Given the description of an element on the screen output the (x, y) to click on. 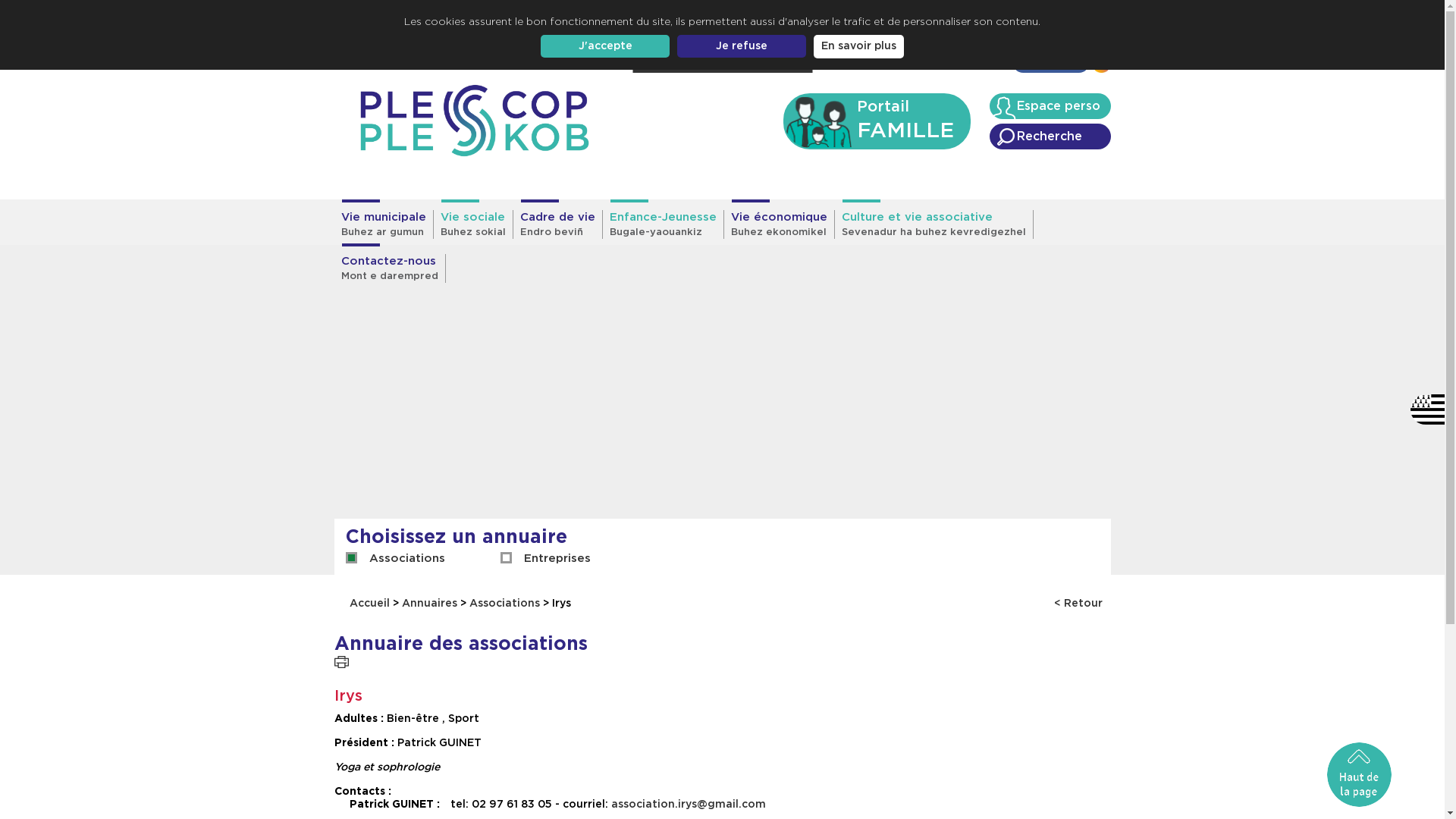
Annuaires Element type: text (429, 603)
association.irys@gmail.com Element type: text (688, 804)
Associations Element type: text (504, 603)
Culture et vie associative
Sevenadur ha buhez kevredigezhel Element type: text (933, 224)
Espace perso Element type: text (1049, 106)
Entreprises Element type: text (557, 558)
Contactez-nous
Mont e darempred Element type: text (389, 268)
< Retour Element type: text (1078, 603)
Accueil Element type: text (867, 63)
Portail
FAMILLE Element type: text (875, 121)
Agenda Element type: text (980, 63)
En savoir plus Element type: text (858, 46)
Dyslexie Element type: text (760, 59)
J'accepte Element type: text (604, 45)
Enfance-Jeunesse
Bugale-yaouankiz Element type: text (662, 224)
Facebook Maire de Plescop Element type: hover (1101, 67)
Je refuse Element type: text (741, 45)
Google + Maire de Plescop Element type: hover (1049, 67)
Associations Element type: text (406, 558)
Vie sociale
Buhez sokial Element type: text (473, 224)
Accueil Maire de Plescop Element type: hover (473, 120)
Vie municipale
Buhez ar gumun Element type: text (383, 224)
Accueil Element type: text (370, 603)
